Given the description of an element on the screen output the (x, y) to click on. 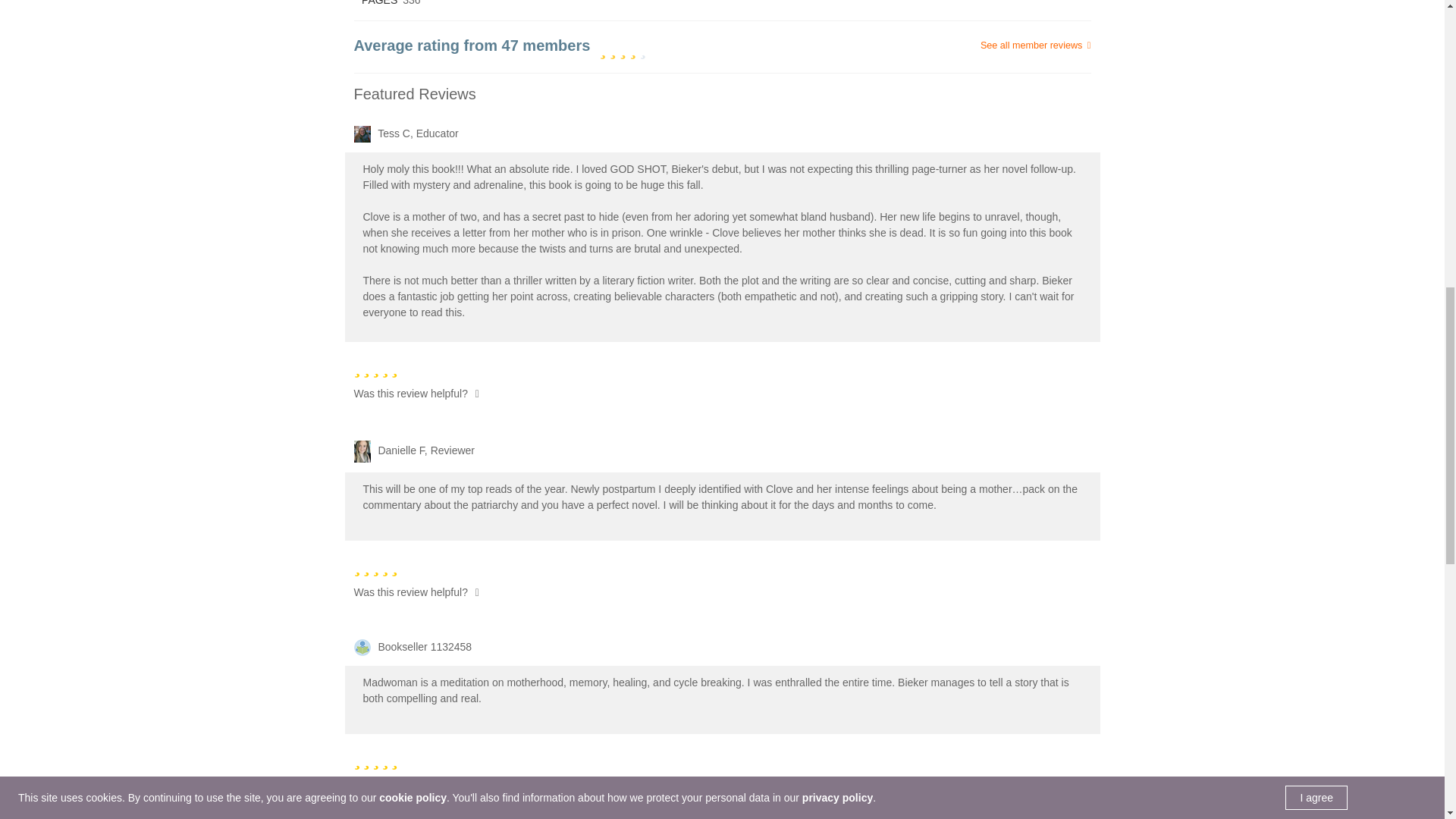
See all member reviews (967, 45)
